Given the description of an element on the screen output the (x, y) to click on. 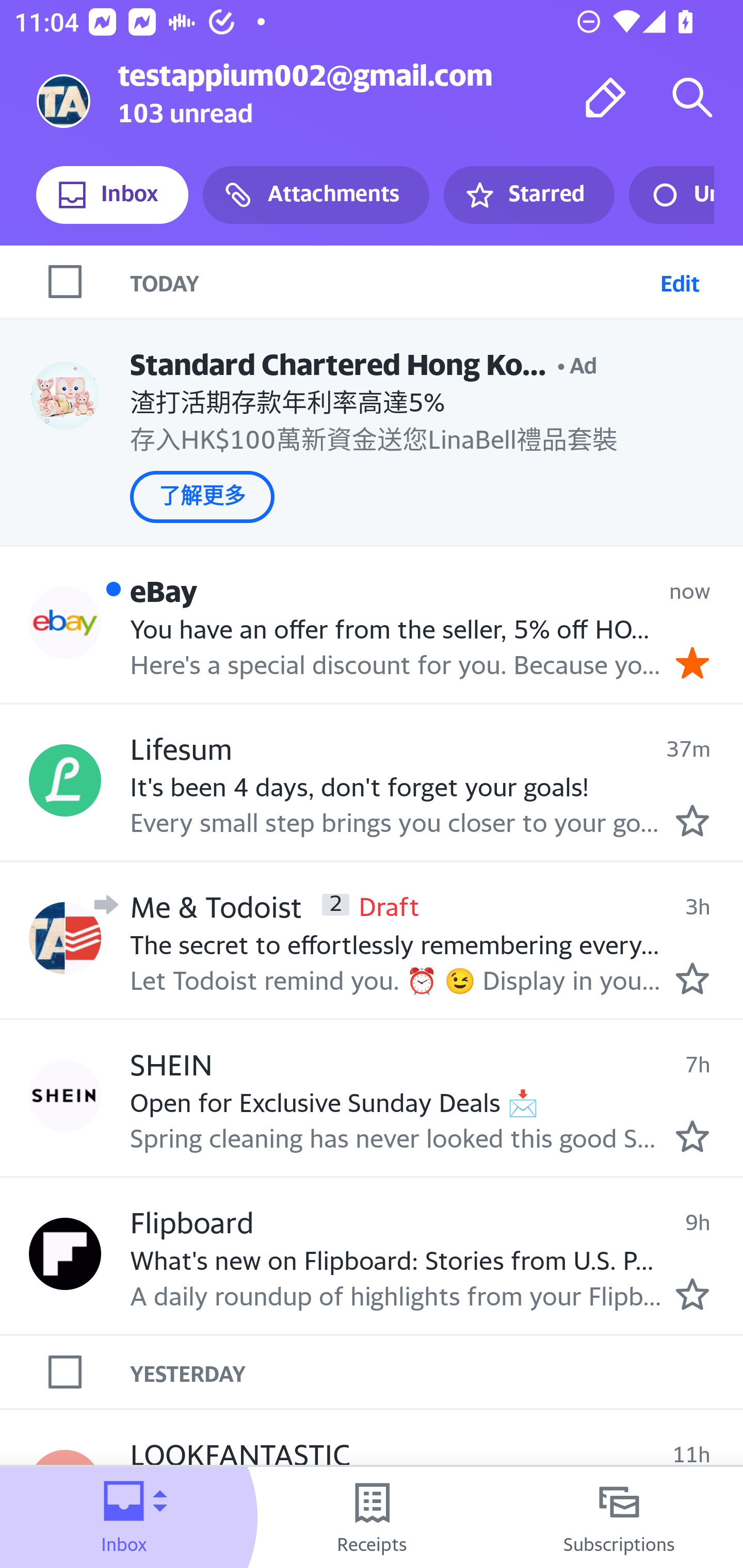
Compose (605, 97)
Search mail (692, 97)
Attachments (315, 195)
Starred (528, 195)
TODAY (391, 281)
Edit Select emails (679, 281)
Profile
eBay (64, 622)
Remove star. (692, 662)
Profile
Lifesum (64, 780)
Mark as starred. (692, 820)
Profile
Me & Todoist (64, 937)
Mark as starred. (692, 978)
Profile
SHEIN (64, 1095)
Mark as starred. (692, 1135)
Profile
Flipboard (64, 1254)
Mark as starred. (692, 1294)
YESTERDAY (436, 1371)
Inbox Folder picker (123, 1517)
Receipts (371, 1517)
Subscriptions (619, 1517)
